Given the description of an element on the screen output the (x, y) to click on. 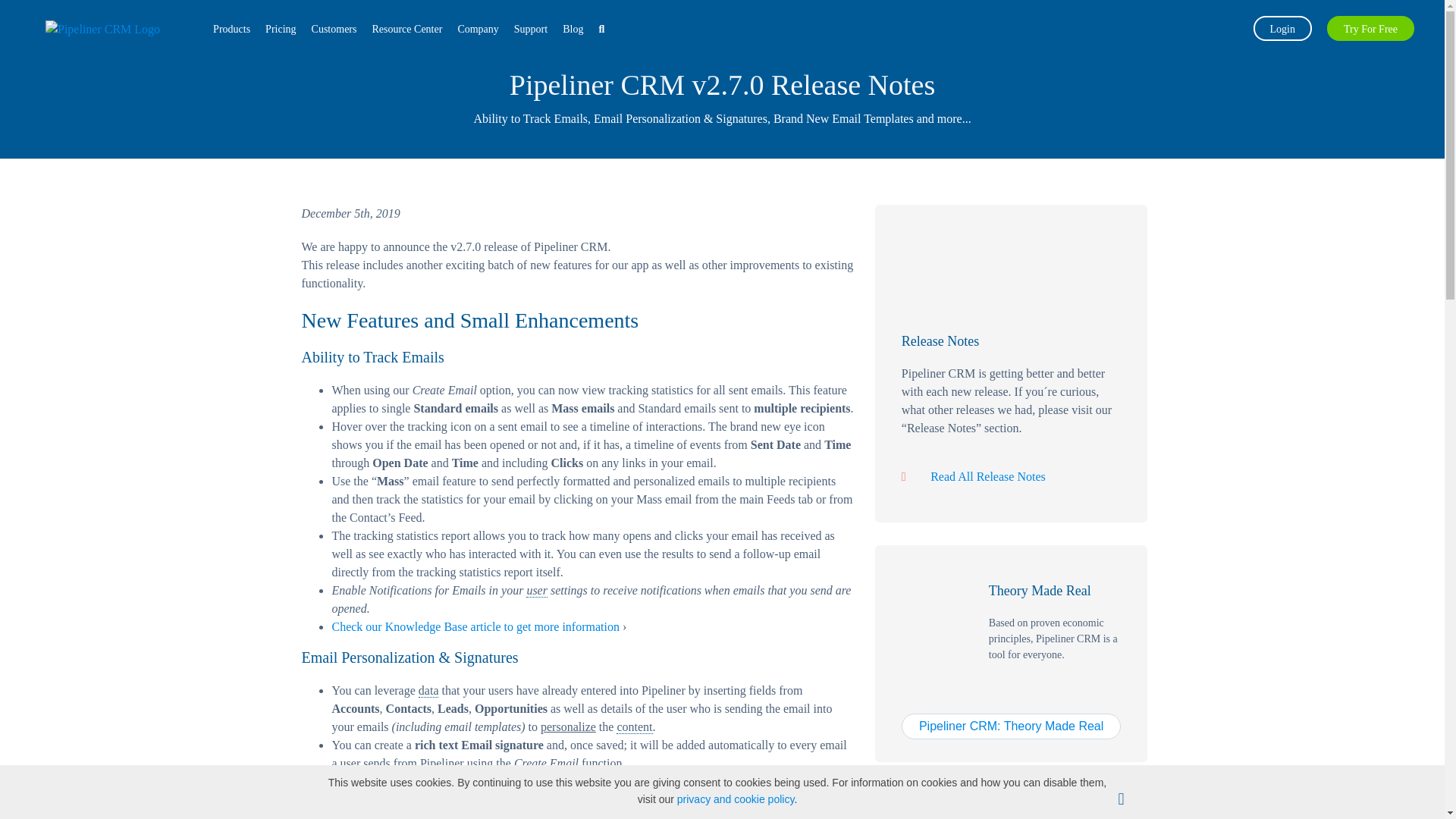
Resource Center (406, 29)
Products (231, 29)
Support (530, 29)
Try For Free (1370, 27)
Login (1281, 27)
Check our Knowledge Base article to get more information (474, 780)
Customers (334, 29)
Company (477, 29)
Pricing (279, 29)
Search (604, 29)
